Given the description of an element on the screen output the (x, y) to click on. 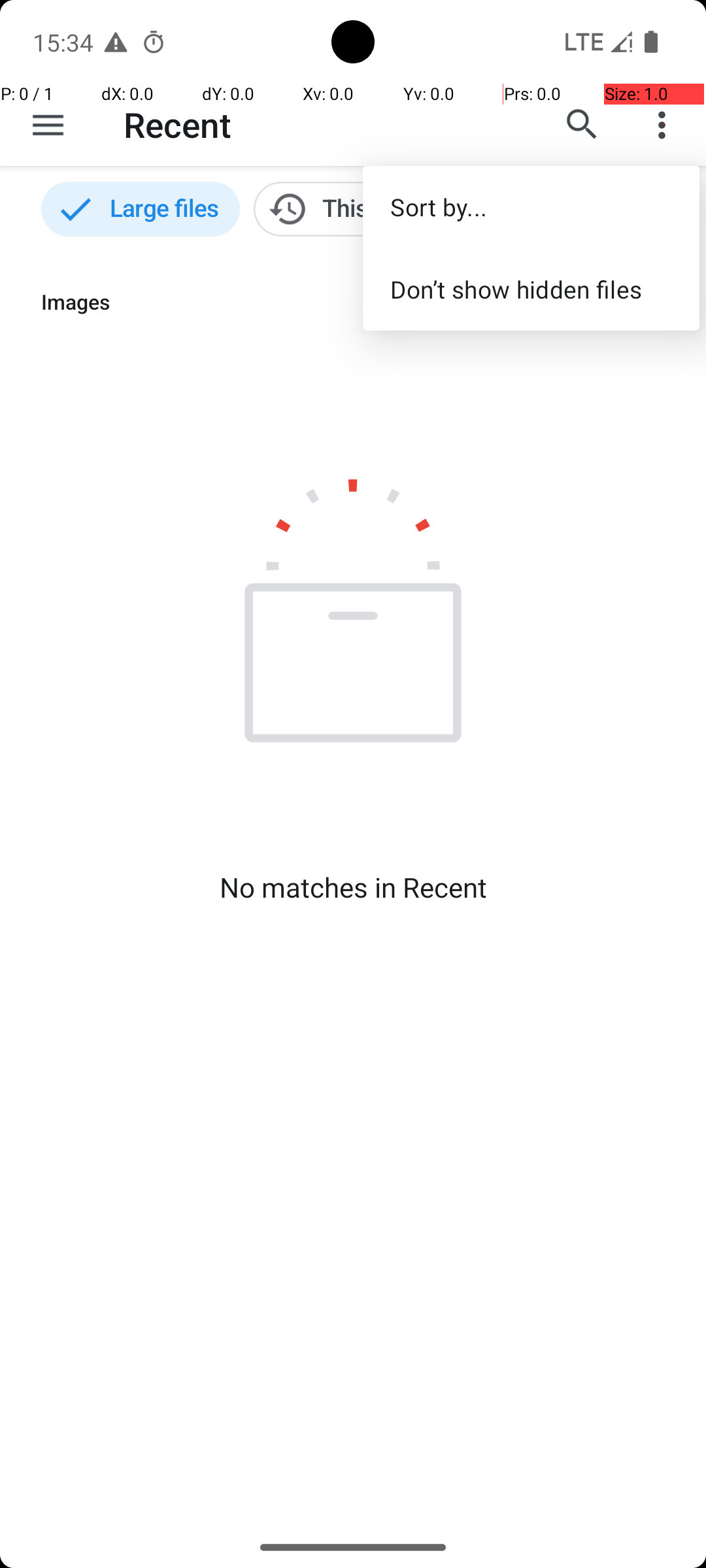
Sort by... Element type: android.widget.TextView (531, 206)
Don’t show hidden files Element type: android.widget.TextView (531, 288)
